Given the description of an element on the screen output the (x, y) to click on. 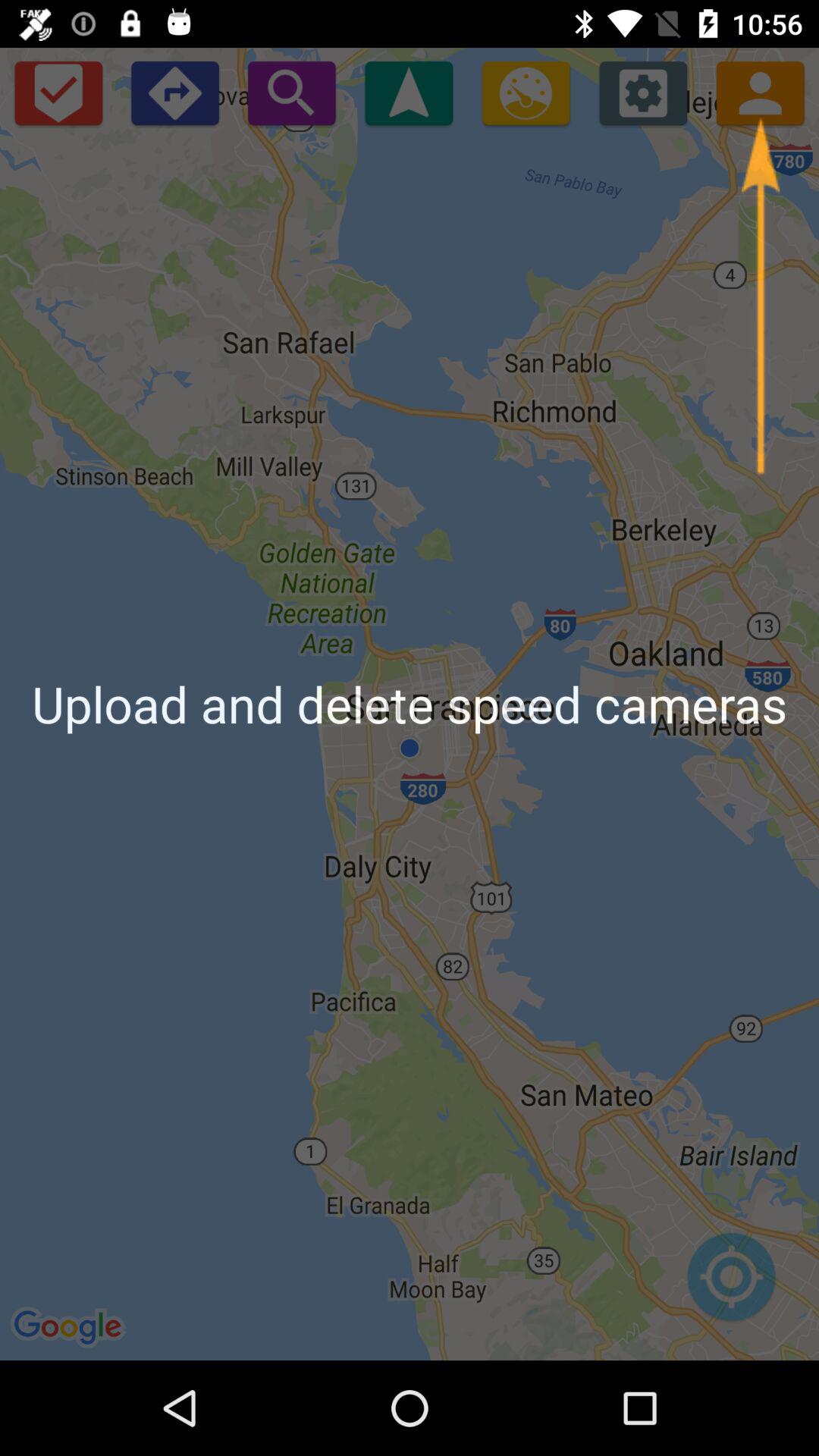
painting (525, 92)
